Given the description of an element on the screen output the (x, y) to click on. 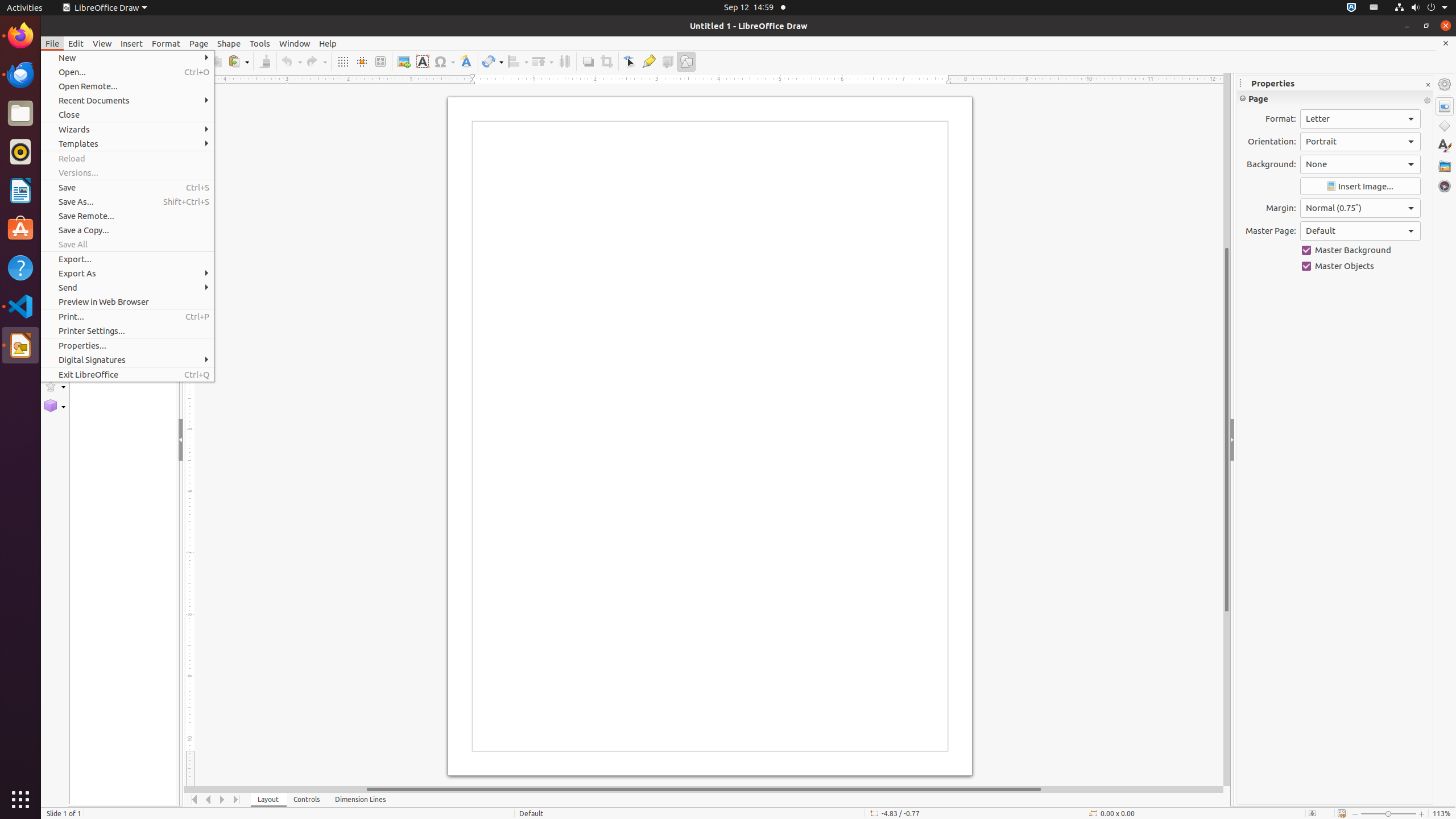
Format: Element type: combo-box (1360, 118)
Master Objects Element type: check-box (1360, 265)
Close Sidebar Deck Element type: push-button (1427, 84)
Exit LibreOffice Element type: menu-item (127, 374)
Insert Image Element type: push-button (1360, 186)
